Given the description of an element on the screen output the (x, y) to click on. 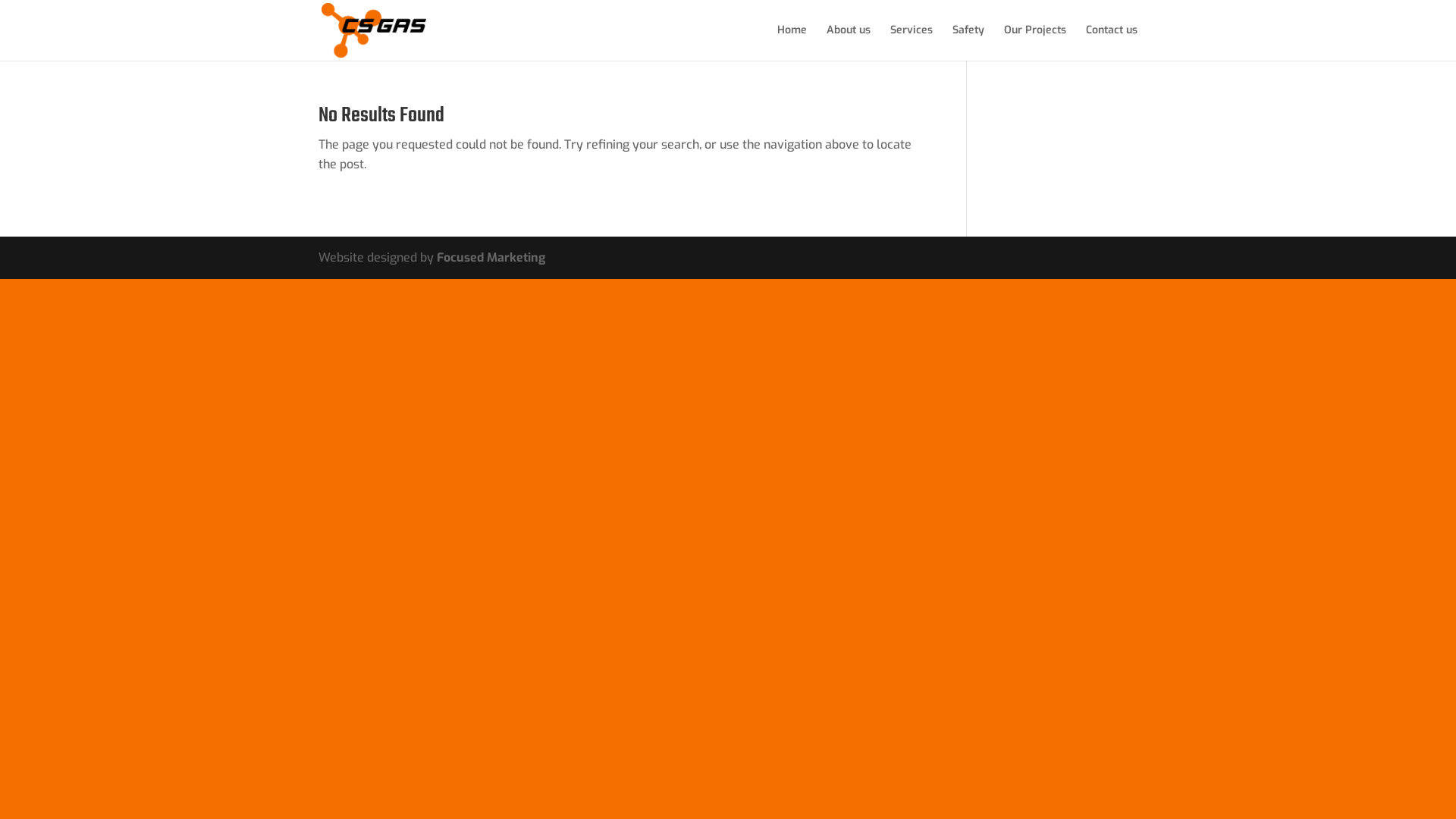
Safety Element type: text (968, 42)
Services Element type: text (911, 42)
Contact us Element type: text (1111, 42)
Focused Marketing Element type: text (490, 257)
Our Projects Element type: text (1035, 42)
About us Element type: text (848, 42)
Home Element type: text (791, 42)
